Given the description of an element on the screen output the (x, y) to click on. 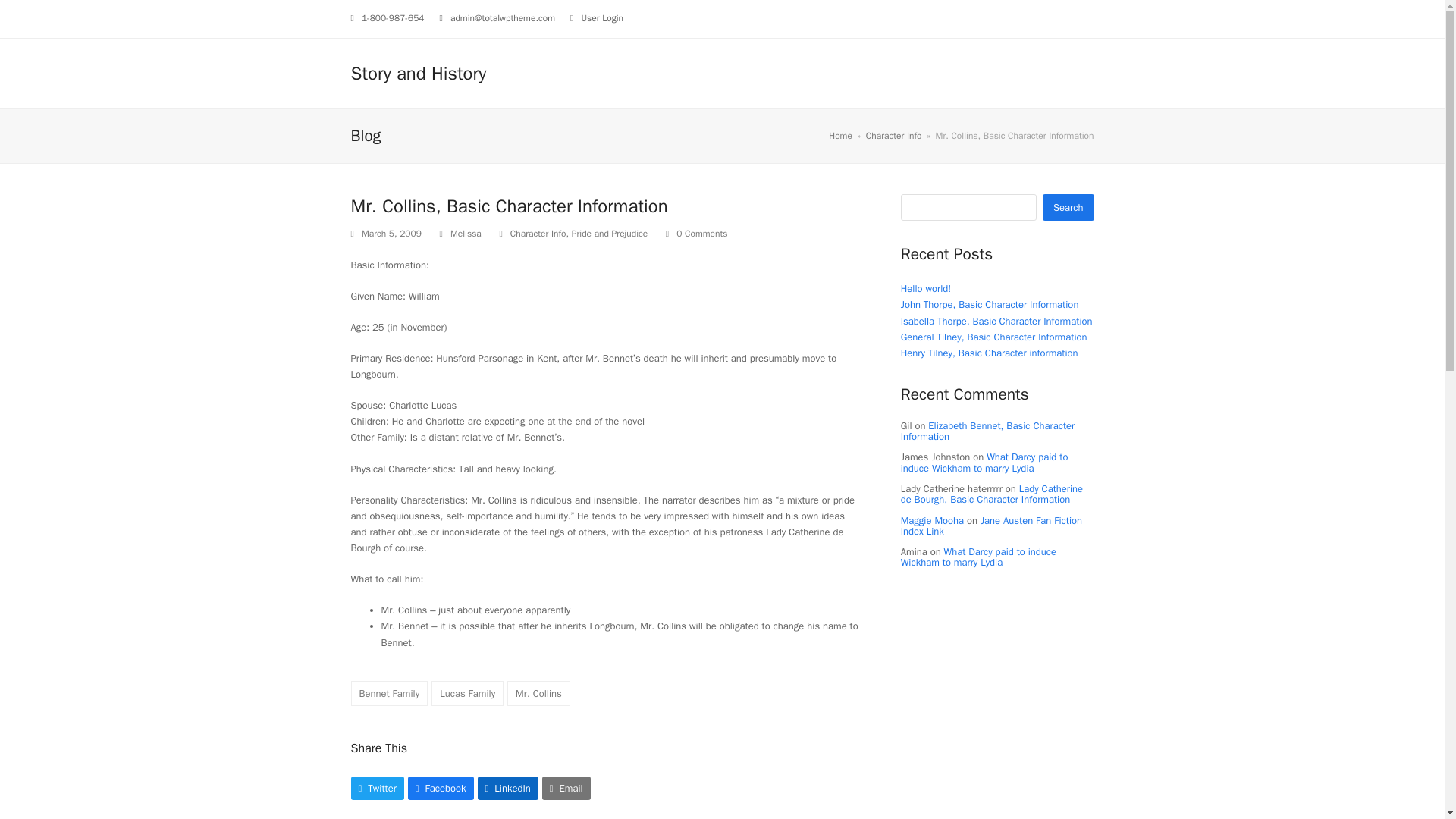
Character Info (538, 233)
Mr. Collins (538, 692)
Bennet Family (389, 692)
Henry Tilney, Basic Character information (989, 352)
0 Comments (701, 233)
Story and History (418, 73)
Facebook (440, 788)
1-800-987-654 (393, 18)
0 Comments (696, 233)
Twitter (376, 788)
